Given the description of an element on the screen output the (x, y) to click on. 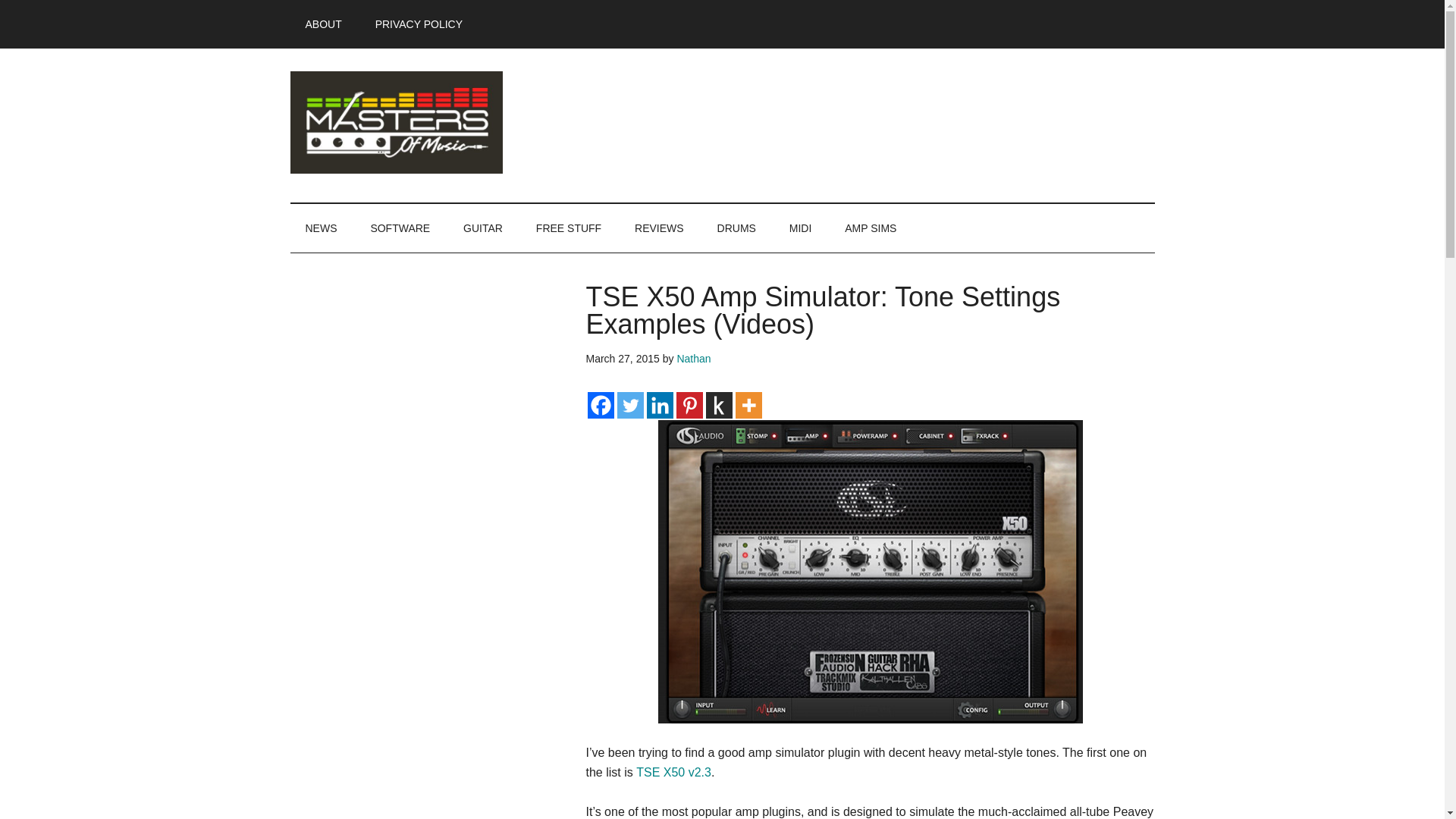
Linkedin (659, 405)
Advertisement (402, 810)
FREE STUFF (568, 227)
Kindle It (718, 405)
Pinterest (690, 405)
REVIEWS (659, 227)
GUITAR (483, 227)
PRIVACY POLICY (418, 24)
SOFTWARE (400, 227)
ABOUT (322, 24)
DRUMS (736, 227)
NEWS (320, 227)
AMP SIMS (870, 227)
Facebook (599, 405)
